Given the description of an element on the screen output the (x, y) to click on. 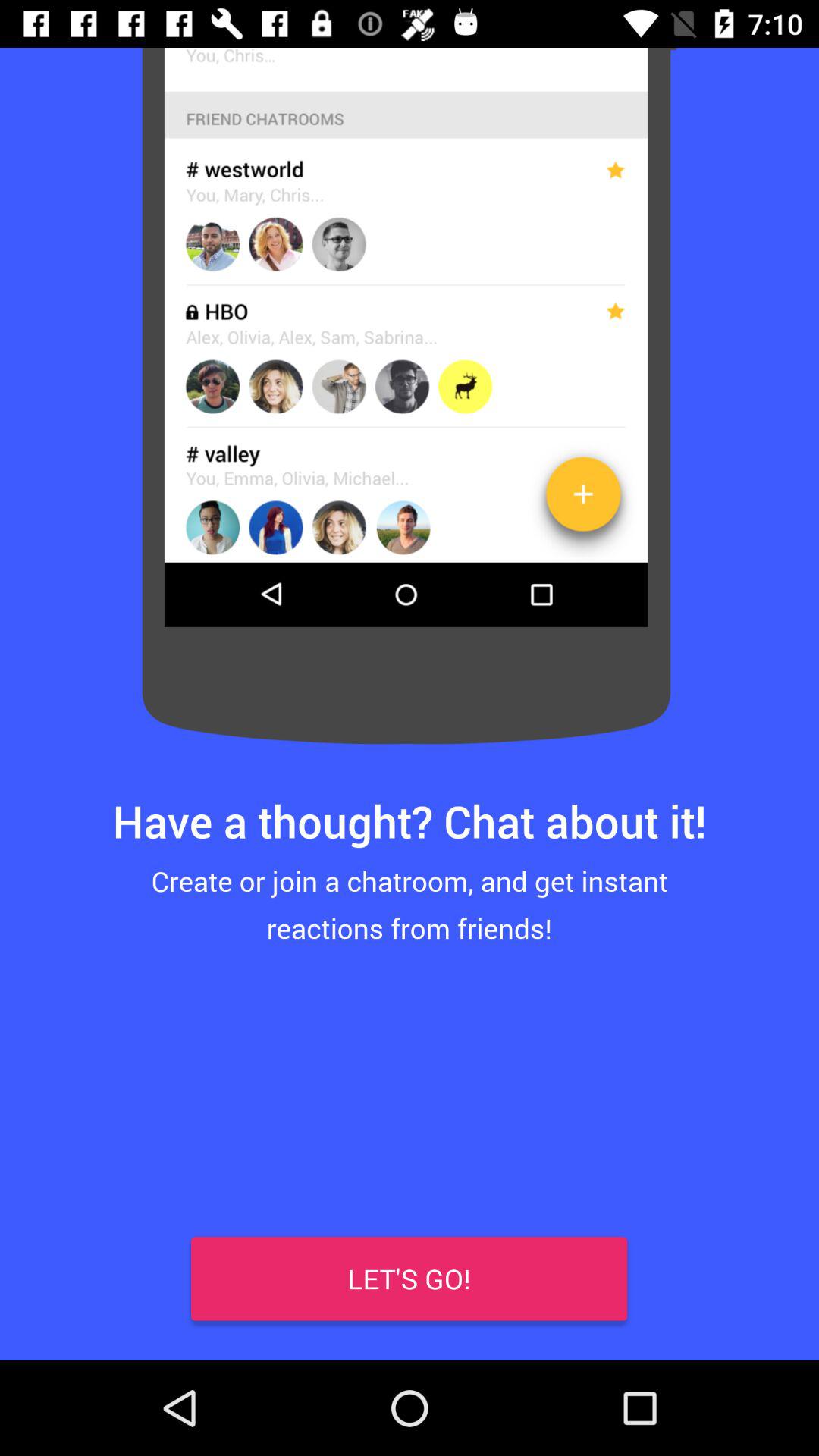
launch the let's go! item (409, 1278)
